Given the description of an element on the screen output the (x, y) to click on. 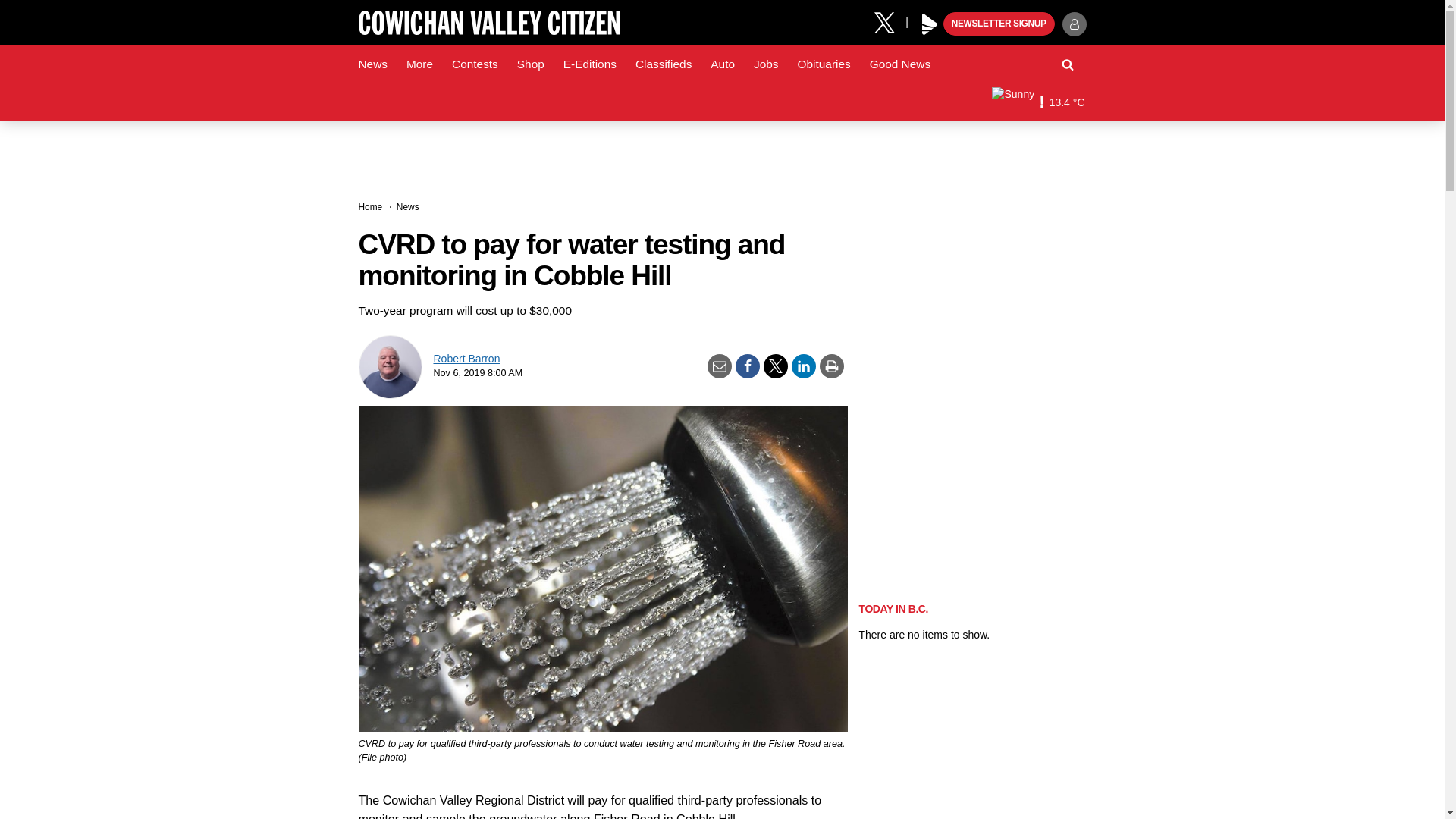
News (372, 64)
Black Press Media (929, 24)
Play (929, 24)
X (889, 21)
NEWSLETTER SIGNUP (998, 24)
